Given the description of an element on the screen output the (x, y) to click on. 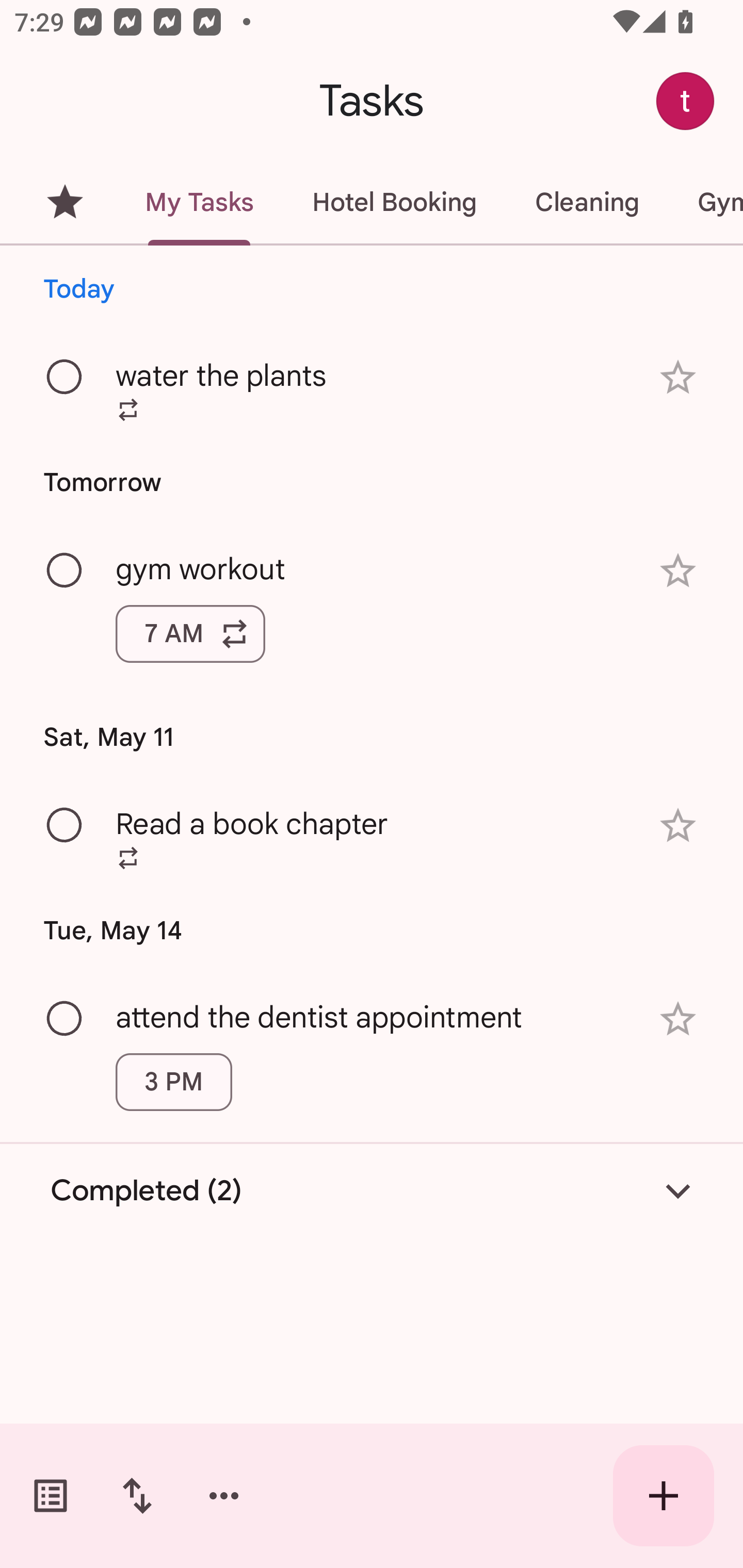
Starred (64, 202)
Hotel Booking (394, 202)
Cleaning (586, 202)
Add star (677, 376)
Mark as complete (64, 377)
Add star (677, 571)
Mark as complete (64, 570)
7 AM (190, 634)
Add star (677, 825)
Mark as complete (64, 825)
Add star (677, 1019)
Mark as complete (64, 1019)
3 PM (173, 1081)
Completed (2) (371, 1190)
Switch task lists (50, 1495)
Create new task (663, 1495)
Change sort order (136, 1495)
More options (223, 1495)
